Given the description of an element on the screen output the (x, y) to click on. 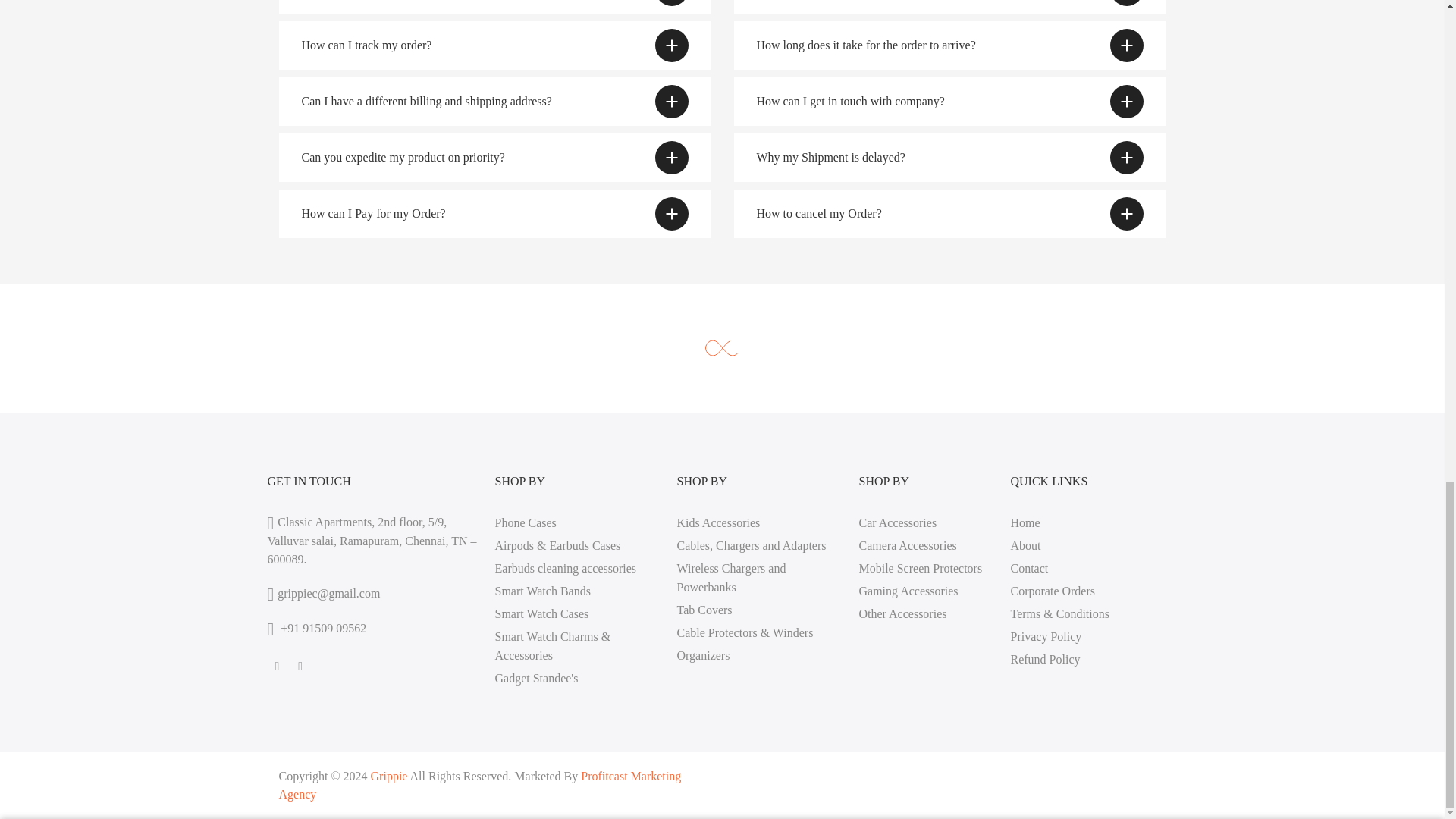
How can I track my order? (495, 45)
How long does it take for the order to arrive? (949, 45)
Are there any shipping charges? (495, 6)
What are the different ways I can order? (949, 6)
